Given the description of an element on the screen output the (x, y) to click on. 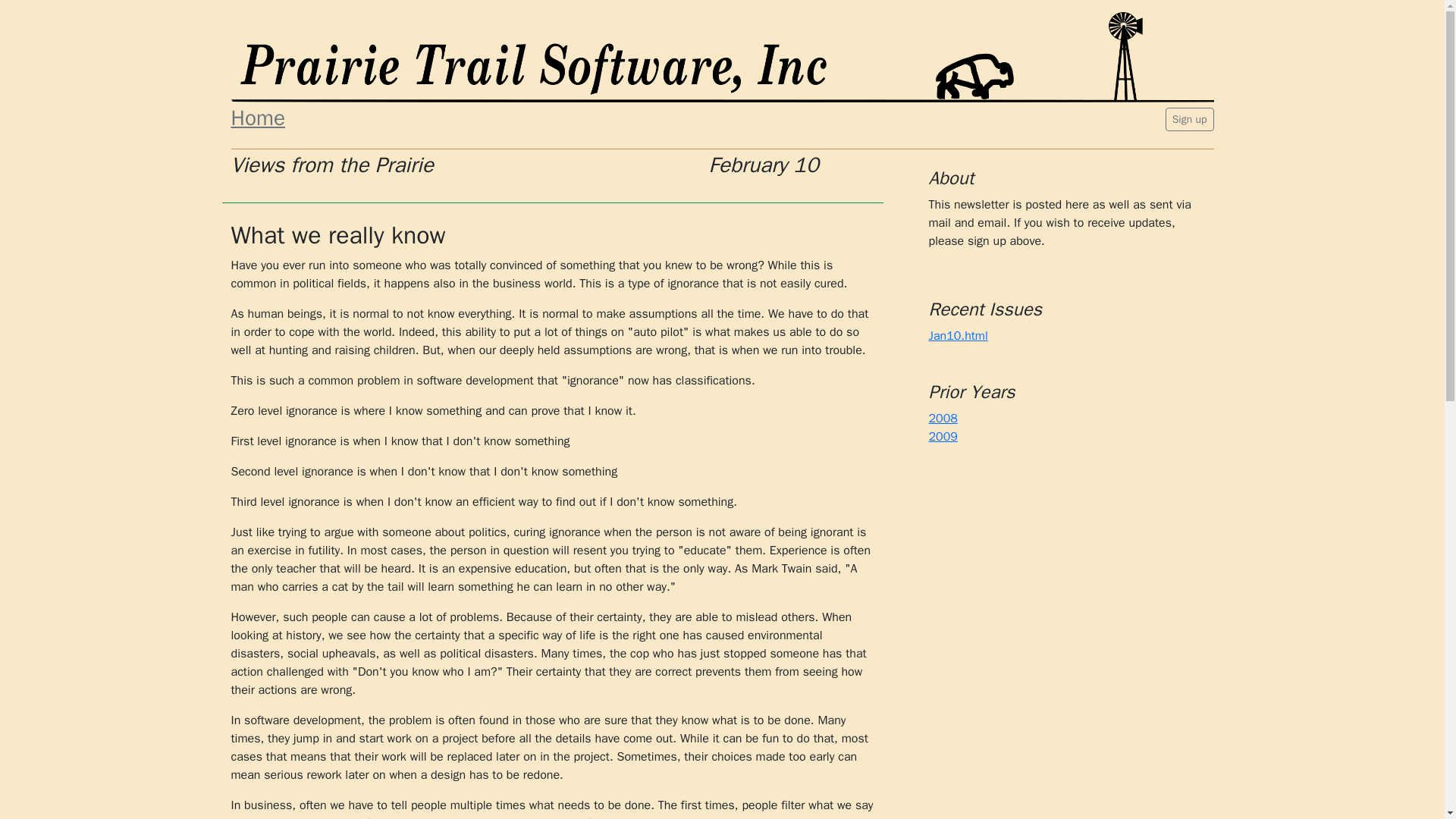
Home (388, 118)
2008 (942, 418)
Jan10.html (957, 335)
2009 (942, 436)
Sign up (1190, 119)
